Given the description of an element on the screen output the (x, y) to click on. 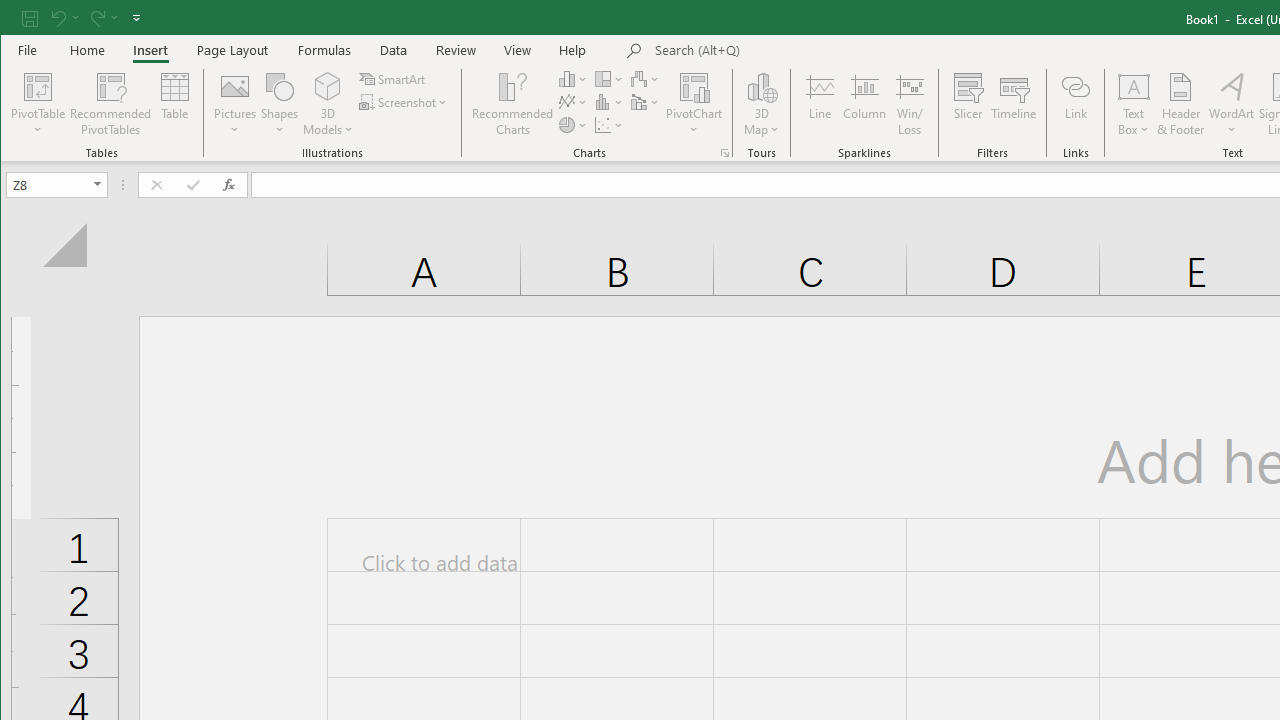
Line (819, 104)
Insert Hierarchy Chart (609, 78)
3D Map (762, 104)
PivotChart (694, 86)
Table (174, 104)
Pictures (235, 104)
Recommended Charts (724, 152)
